Given the description of an element on the screen output the (x, y) to click on. 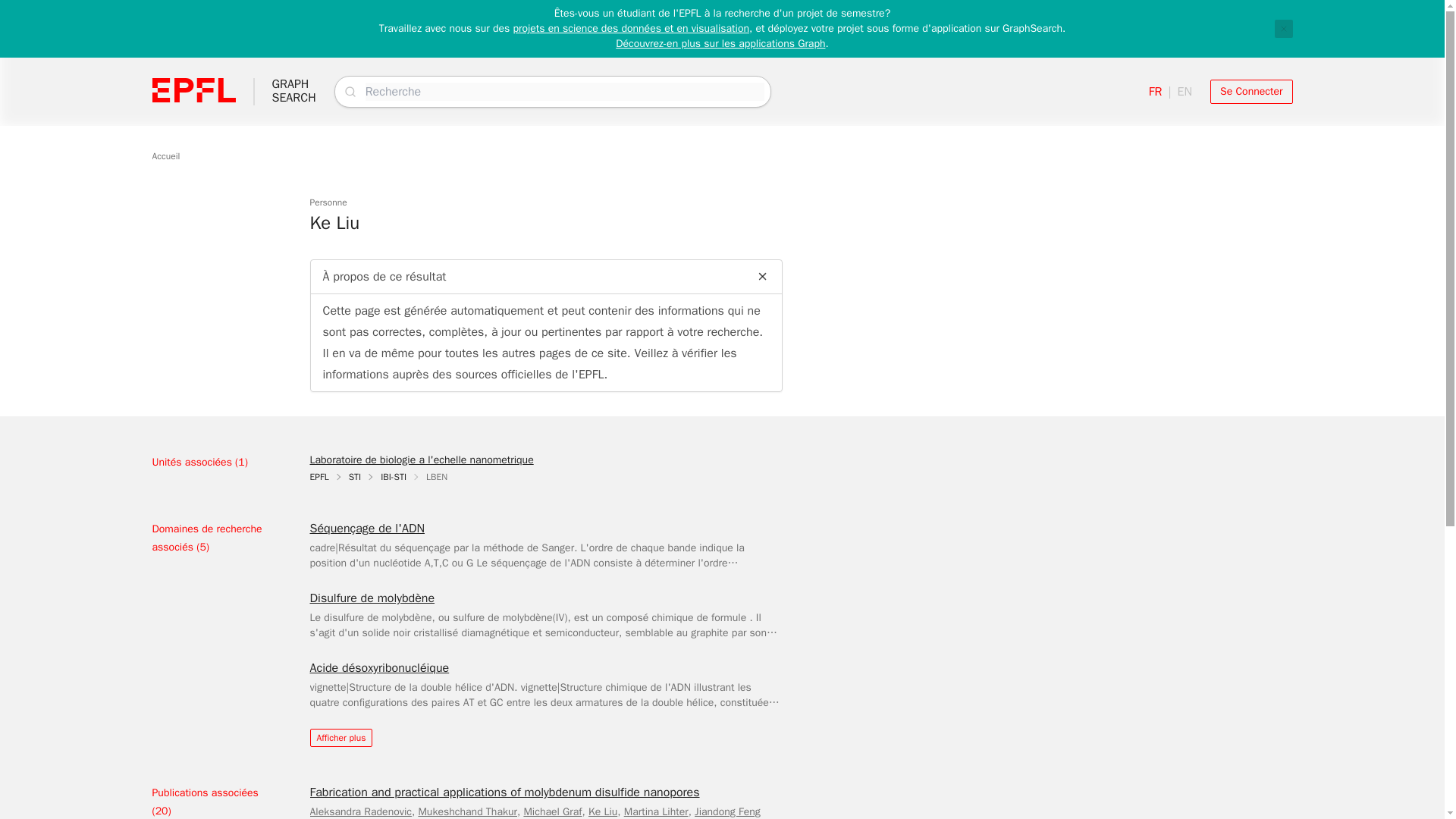
Aleksandra Radenovic (359, 811)
IBI-STI (393, 476)
Michael Graf (551, 811)
Accueil (165, 155)
Ke Liu (602, 811)
Close notification (1283, 28)
Afficher plus (340, 737)
Martina Lihter (656, 811)
EPFL (318, 476)
